Given the description of an element on the screen output the (x, y) to click on. 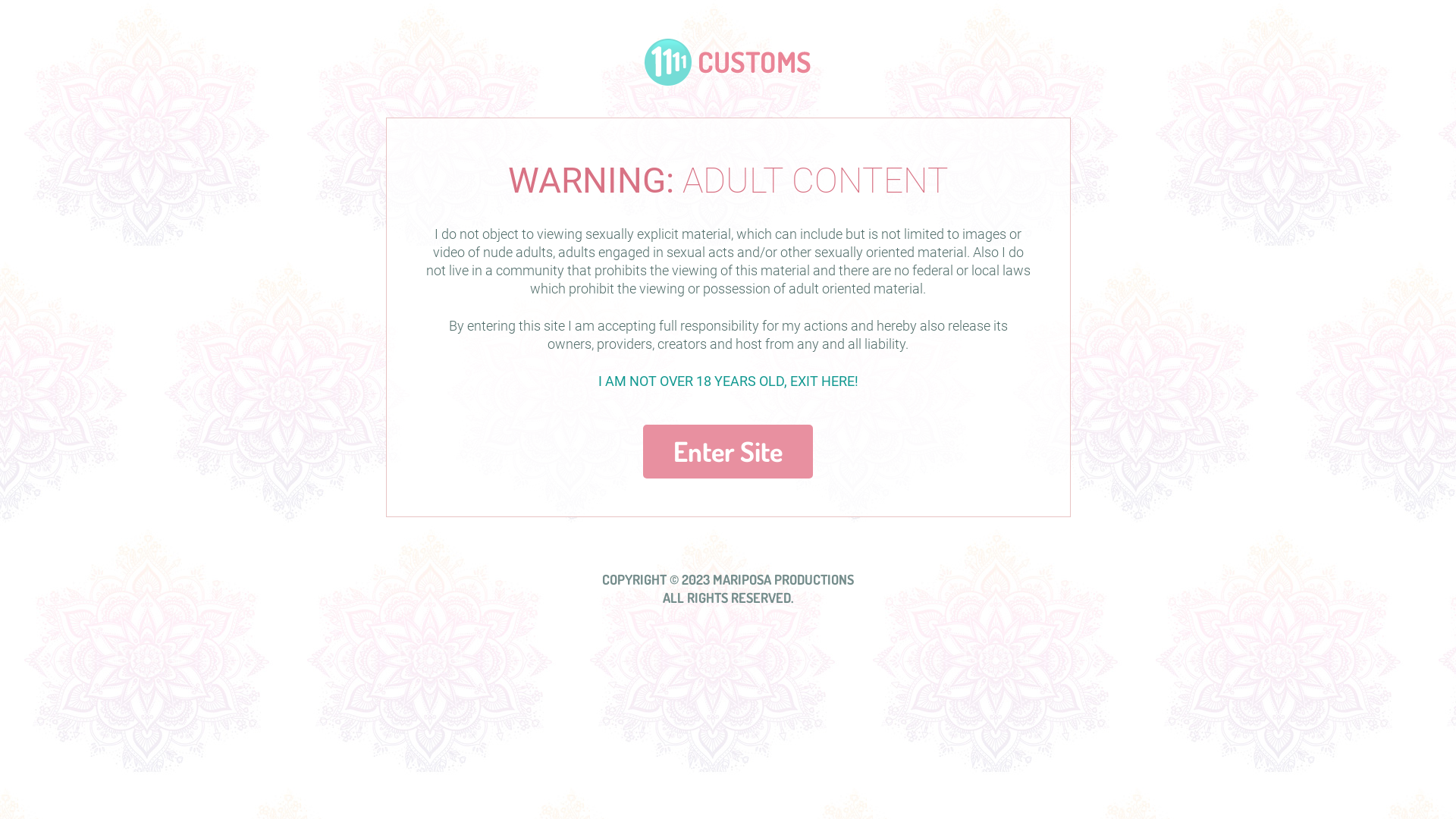
I AM NOT OVER 18 YEARS OLD, EXIT HERE! Element type: text (727, 381)
Enter Site Element type: text (727, 451)
